Given the description of an element on the screen output the (x, y) to click on. 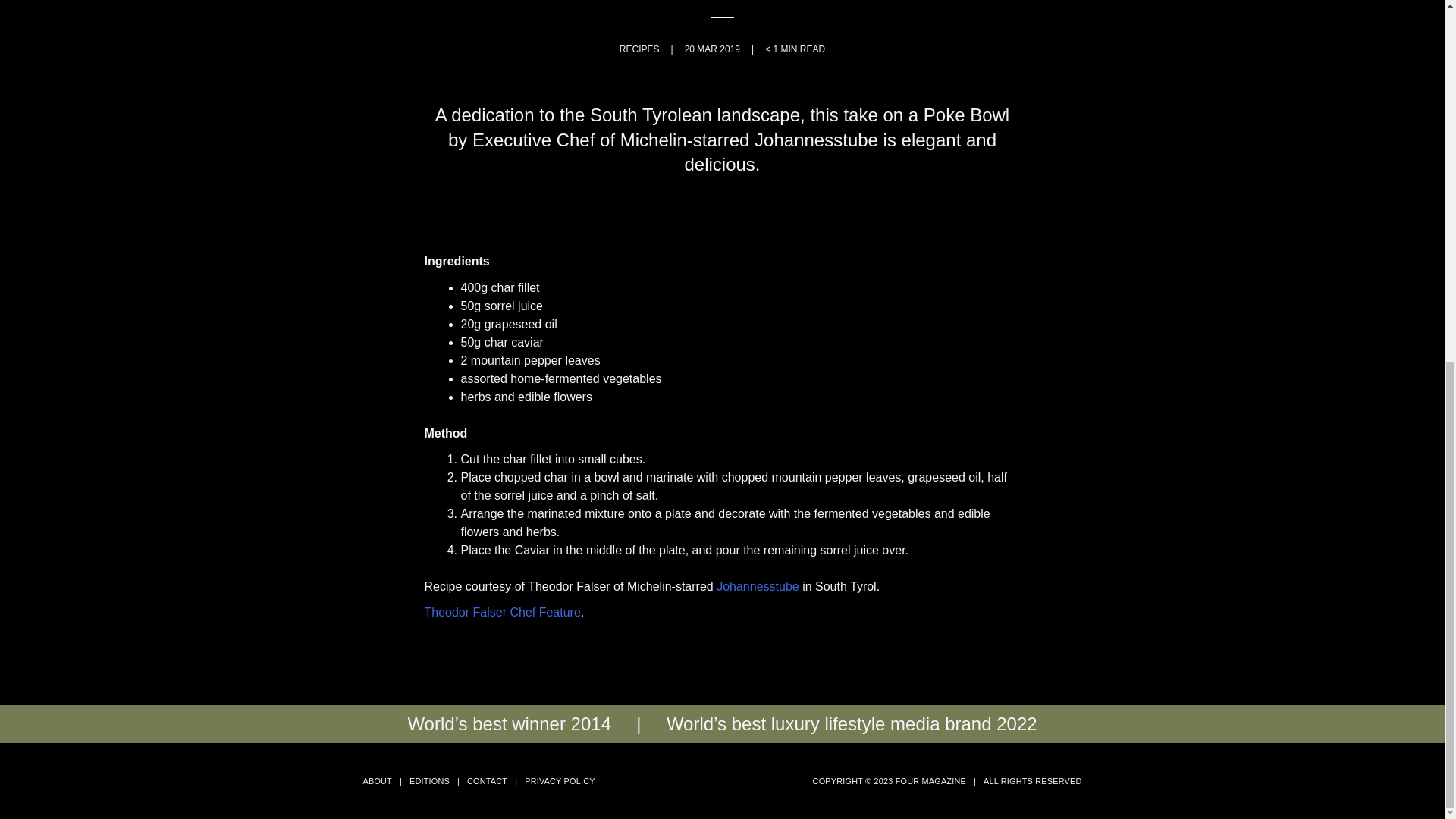
ABOUT (376, 780)
PRIVACY POLICY (559, 780)
Theodor Falser Chef Feature (502, 612)
RECIPES (639, 49)
CONTACT (486, 780)
Johannesstube (757, 585)
EDITIONS (429, 780)
